Given the description of an element on the screen output the (x, y) to click on. 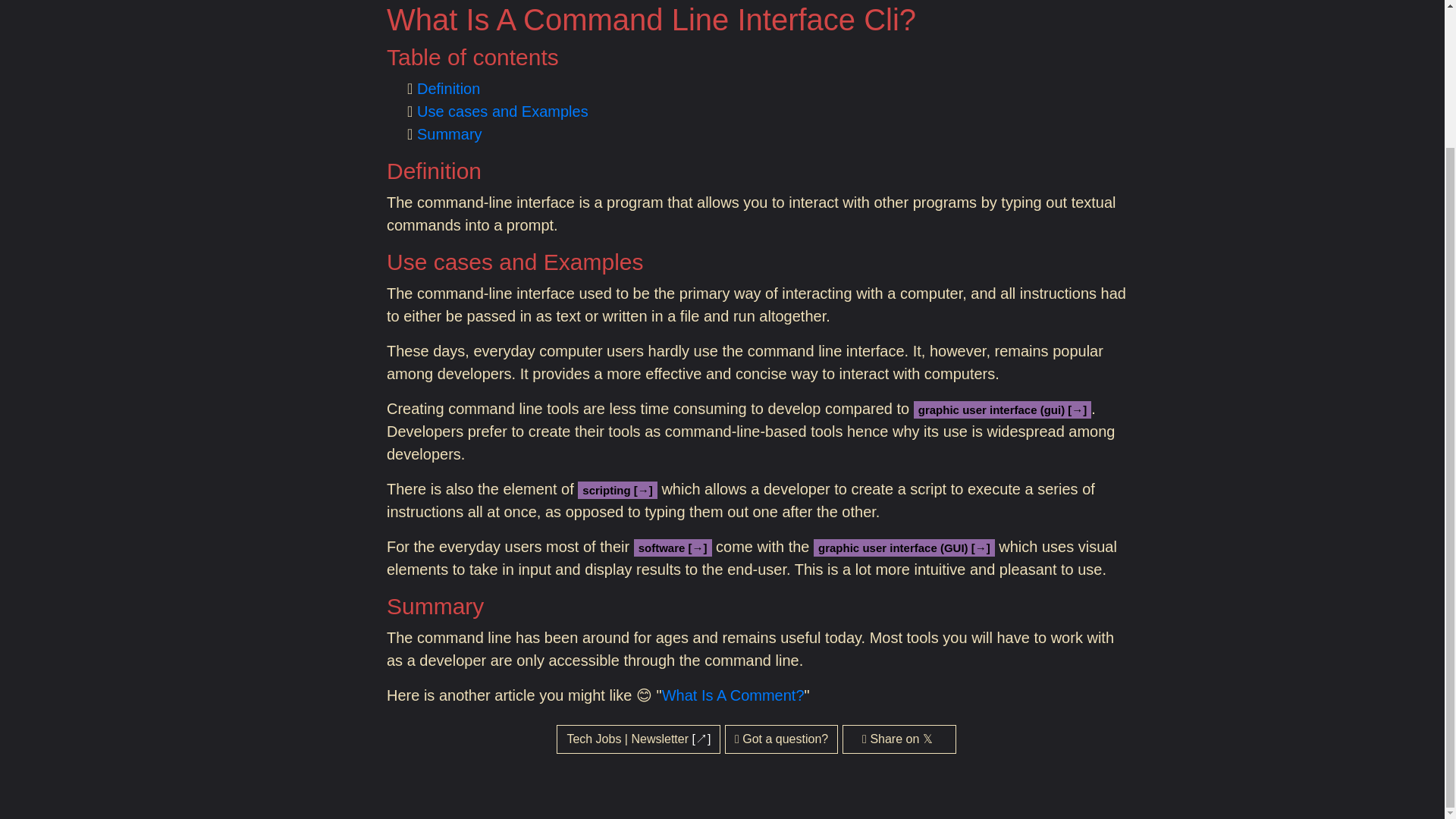
Use cases and Examples (502, 111)
Definition (448, 88)
Summary (448, 134)
What Is A Comment? (733, 695)
